Given the description of an element on the screen output the (x, y) to click on. 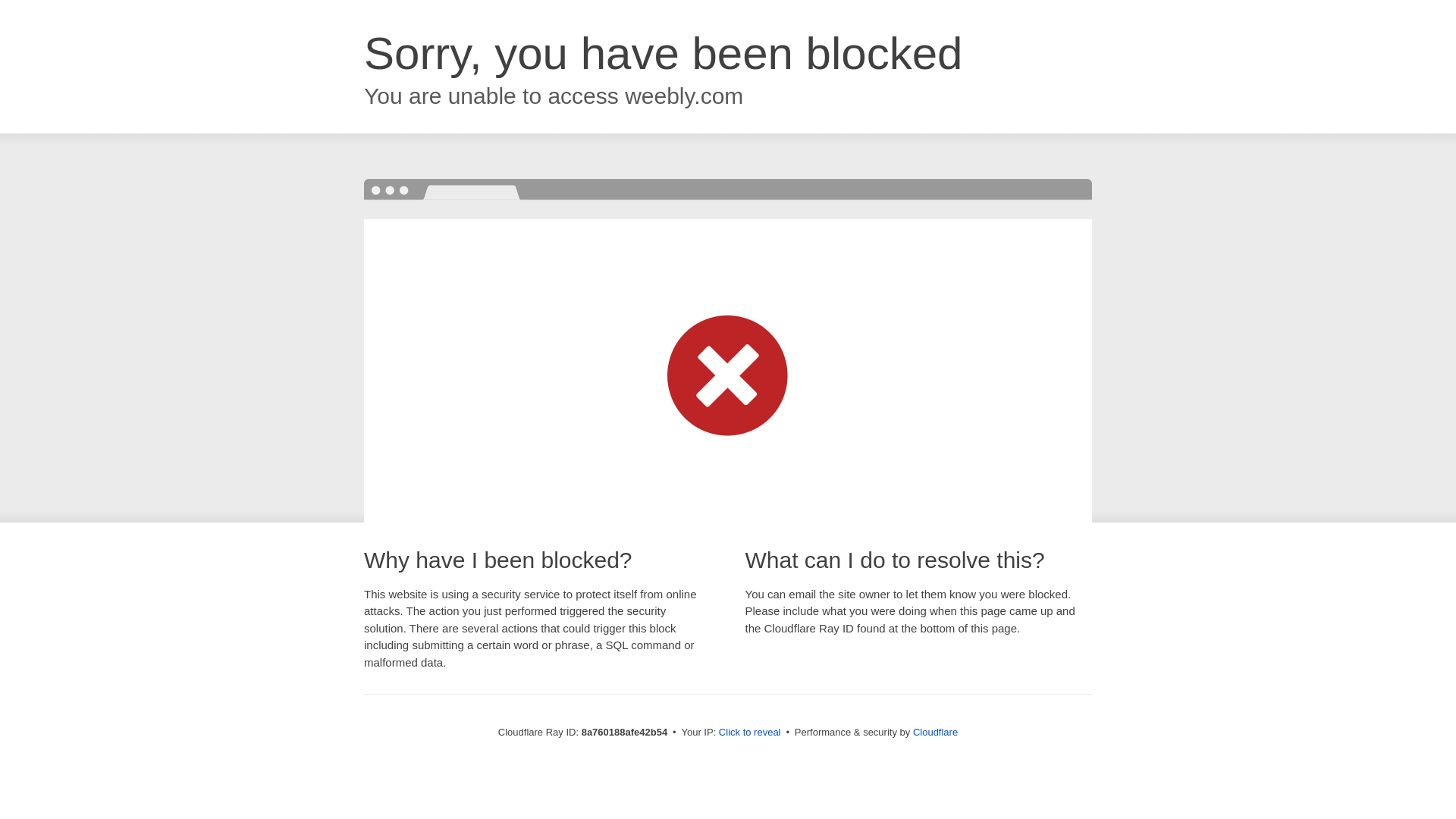
Click to reveal (749, 732)
Cloudflare (935, 731)
